Given the description of an element on the screen output the (x, y) to click on. 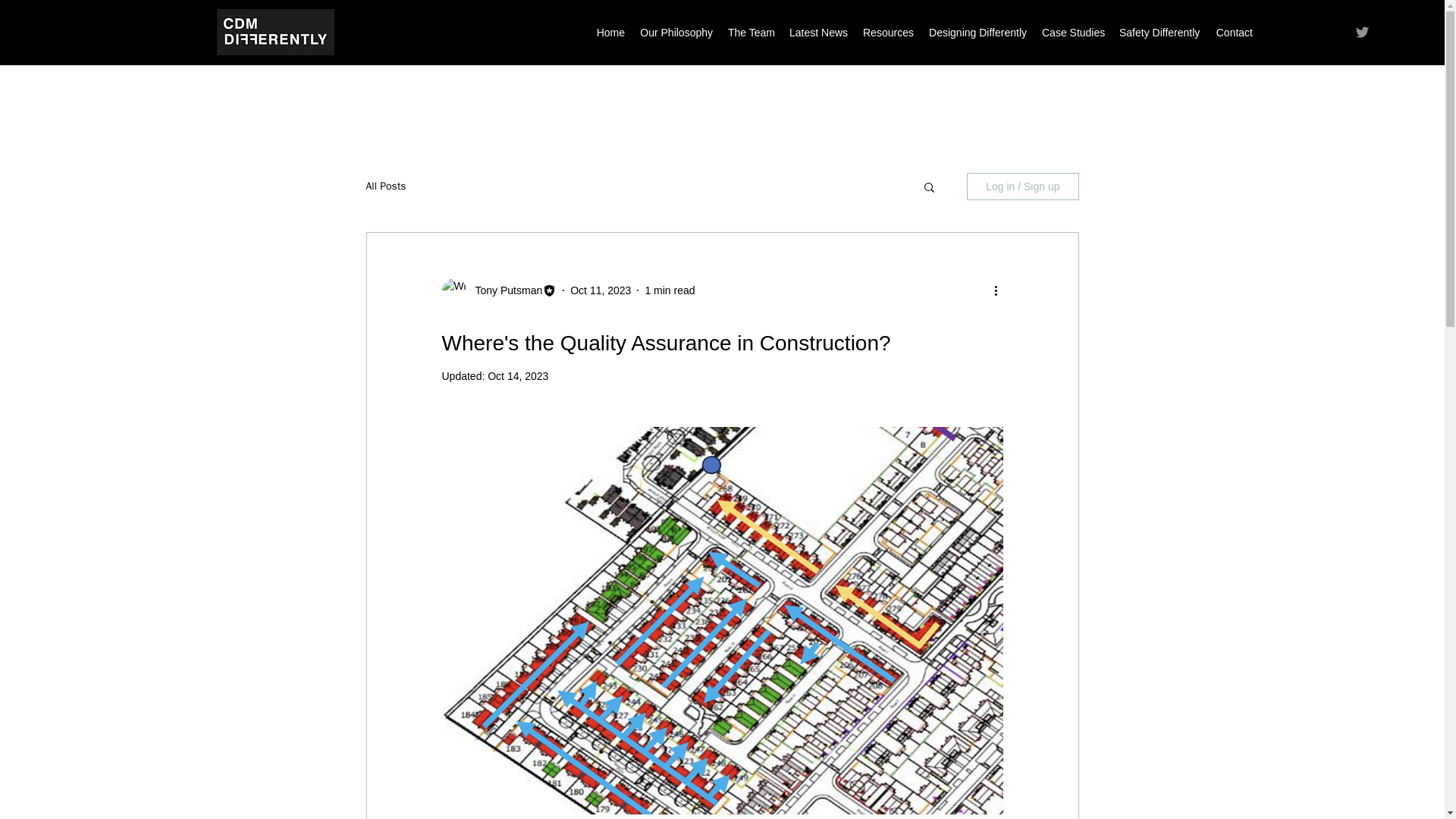
1 min read (669, 289)
All Posts (385, 186)
Contact (1233, 32)
Resources (887, 32)
Oct 11, 2023 (600, 289)
Tony Putsman (503, 289)
Our Philosophy (675, 32)
The Team (750, 32)
Designing Differently (975, 32)
Home (609, 32)
